Given the description of an element on the screen output the (x, y) to click on. 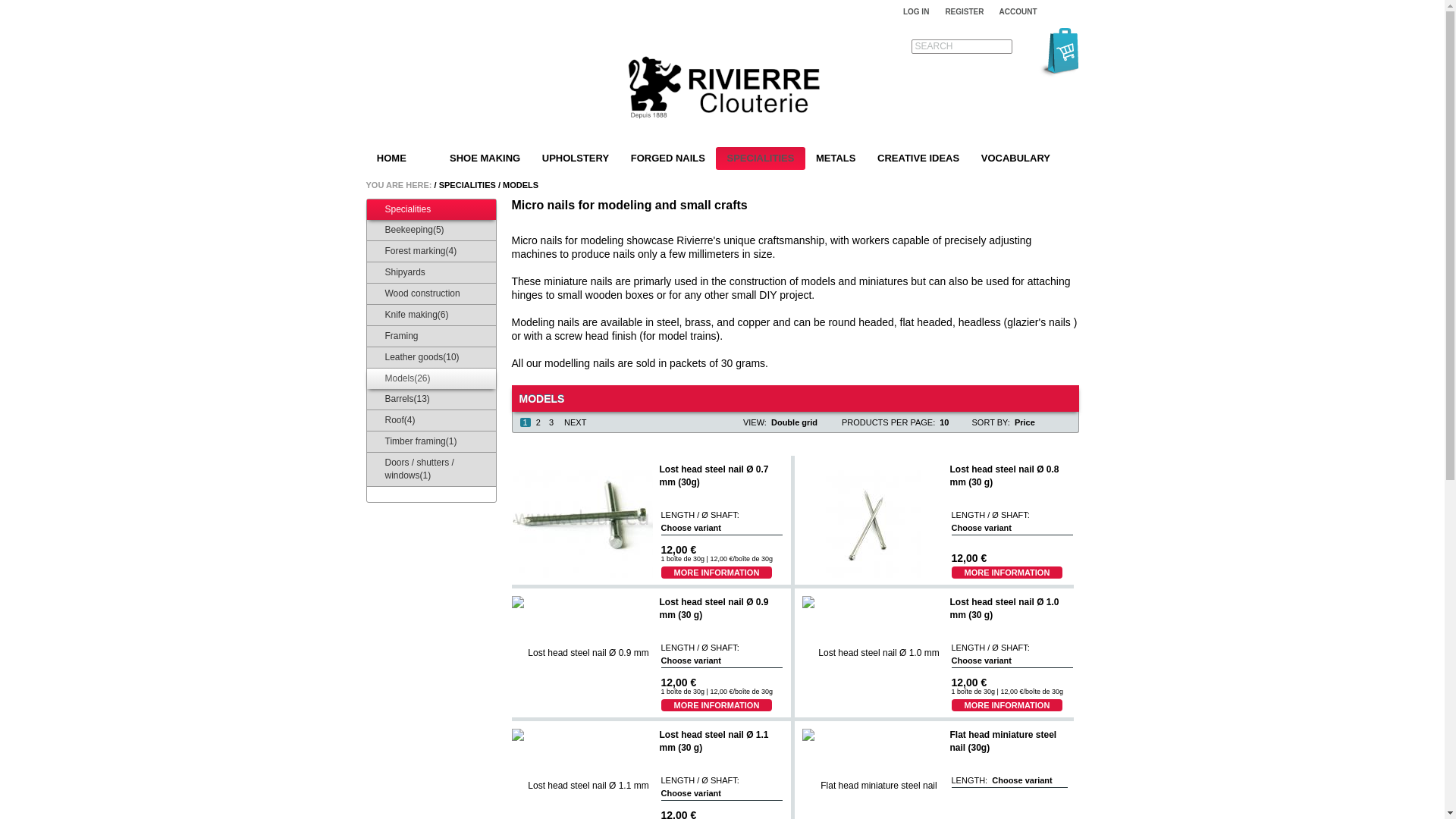
Nails, forged nails and tacks (721, 89)
Specialities (467, 184)
REGISTER (964, 11)
SHOE MAKING (485, 158)
ENGLISH (1068, 11)
Models (520, 184)
UPHOLSTERY (575, 158)
ACCOUNT (1021, 11)
English (1068, 11)
LOG IN (915, 11)
HOME (390, 158)
Log in (915, 11)
Register (964, 11)
